Given the description of an element on the screen output the (x, y) to click on. 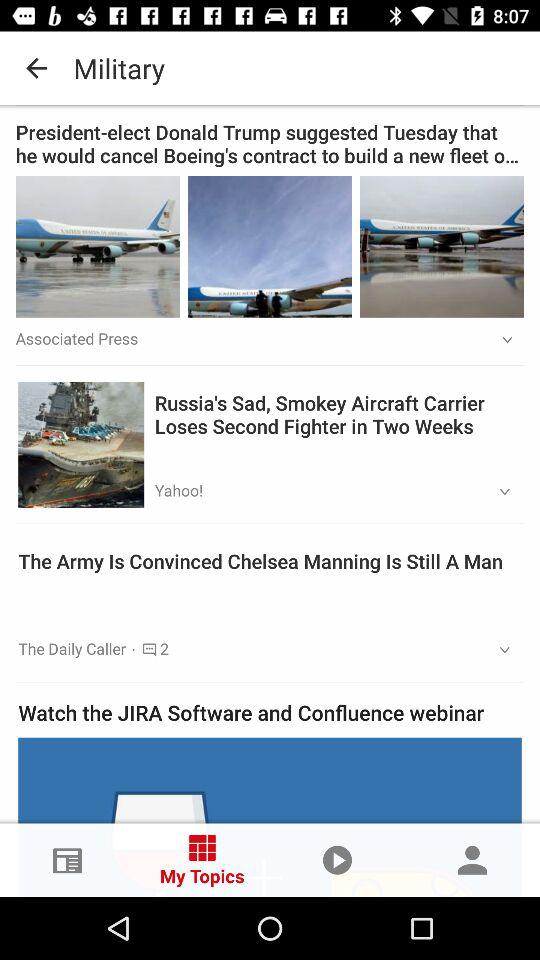
go back to previous page (270, 68)
